Given the description of an element on the screen output the (x, y) to click on. 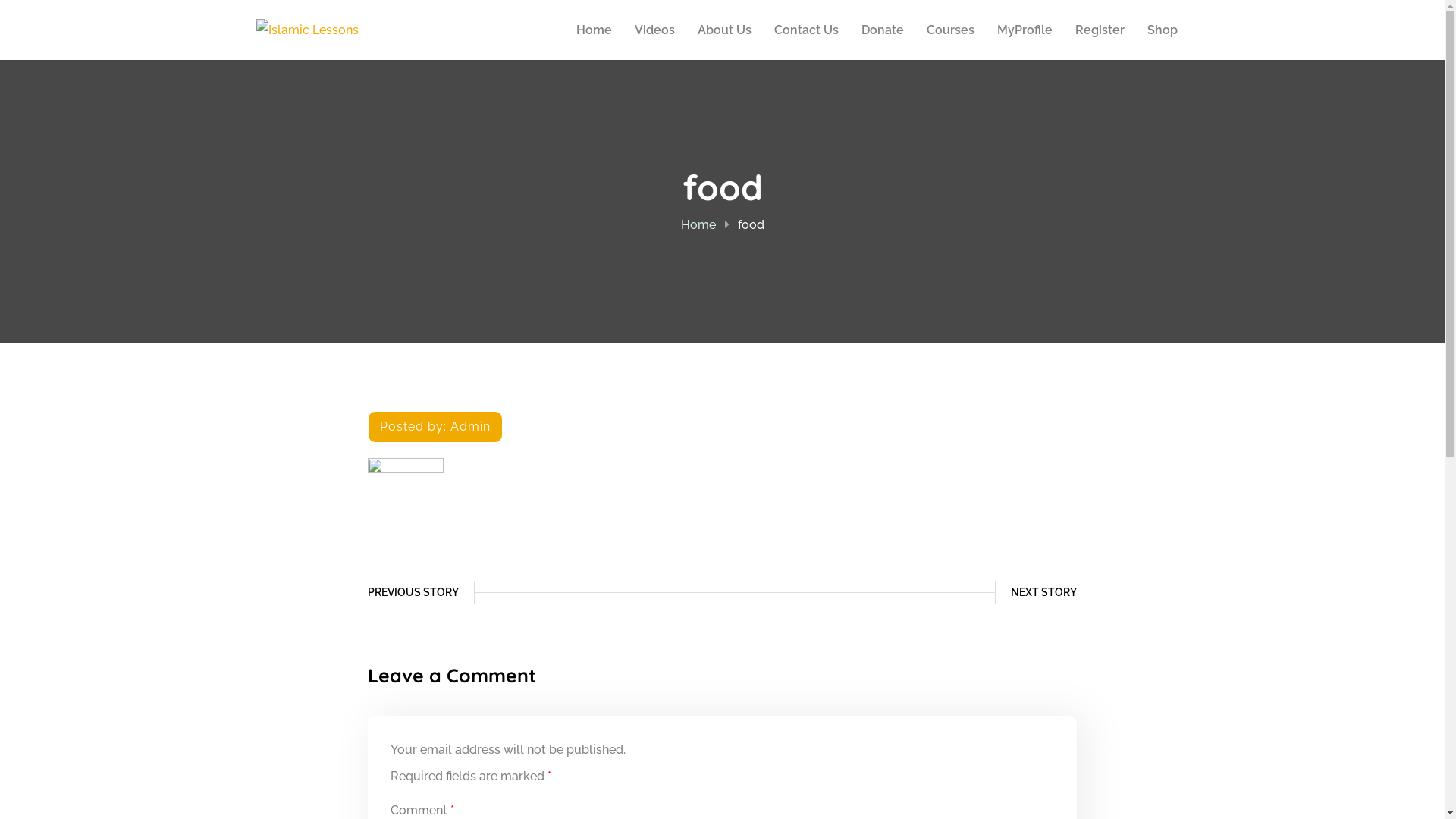
Islamic Lessons Element type: hover (307, 29)
Home Element type: text (593, 29)
About Us Element type: text (724, 29)
Contact Us Element type: text (805, 29)
Register Element type: text (1099, 29)
Donate Element type: text (882, 29)
Videos Element type: text (653, 29)
Courses Element type: text (950, 29)
Home Element type: text (697, 223)
Admin Element type: text (470, 425)
Shop Element type: text (1161, 29)
Islamic Lessons Element type: hover (307, 28)
MyProfile Element type: text (1023, 29)
